Given the description of an element on the screen output the (x, y) to click on. 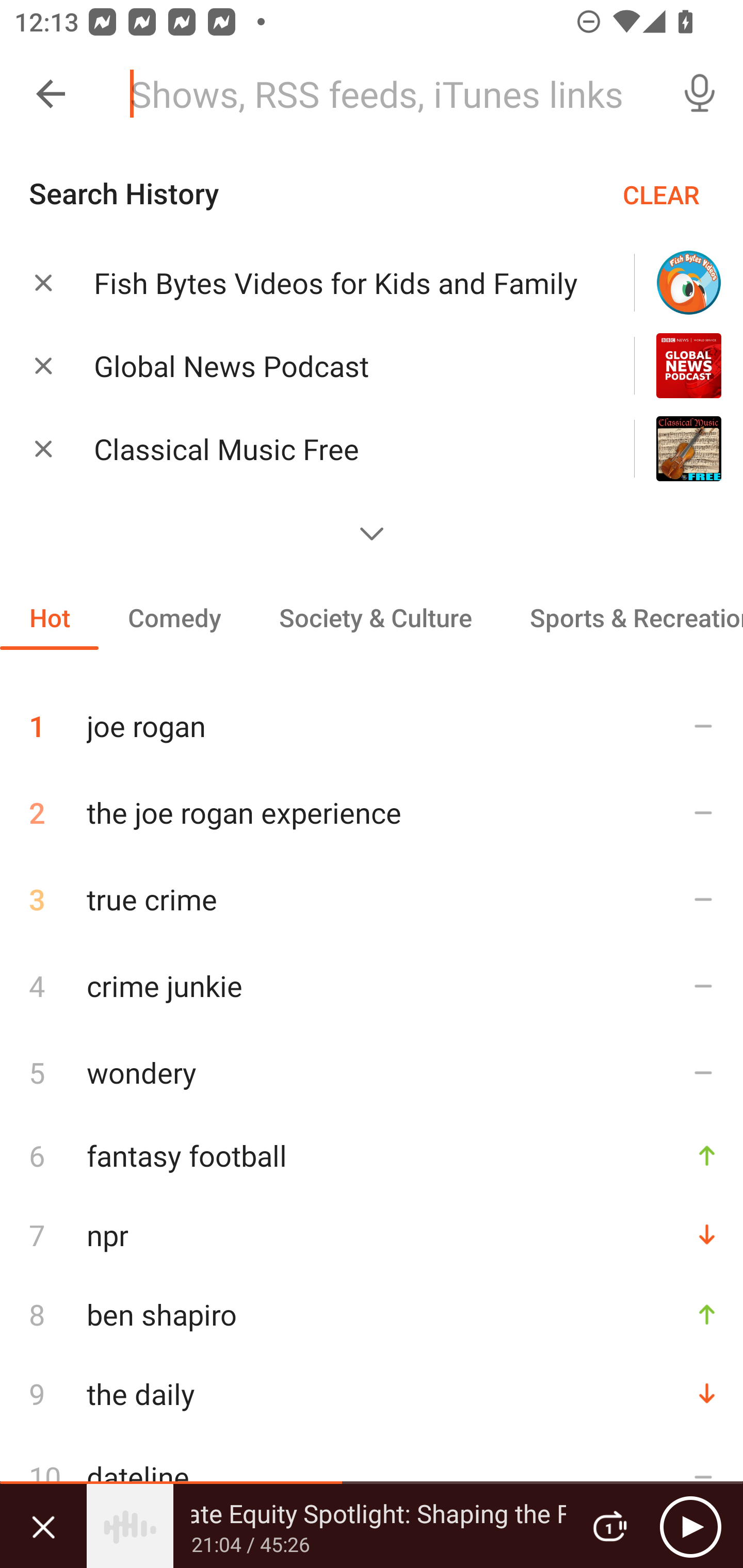
Collapse (50, 93)
Voice Search (699, 93)
Shows, RSS feeds, iTunes links (385, 94)
CLEAR (660, 194)
Fish Bytes Videos for Kids and Family (338, 282)
 Clear (43, 282)
Global News Podcast (338, 365)
 Clear (43, 365)
Classical Music Free (338, 448)
 Clear (43, 448)
 (371, 533)
Hot (49, 616)
Comedy (173, 616)
Society & Culture (374, 616)
Sports & Recreation (621, 616)
1 joe rogan (371, 717)
2 the joe rogan experience (371, 812)
3 true crime (371, 899)
4 crime junkie (371, 985)
5 wondery (371, 1072)
6 fantasy football (371, 1155)
7 npr (371, 1234)
8 ben shapiro (371, 1313)
9 the daily (371, 1393)
Play (690, 1526)
